Given the description of an element on the screen output the (x, y) to click on. 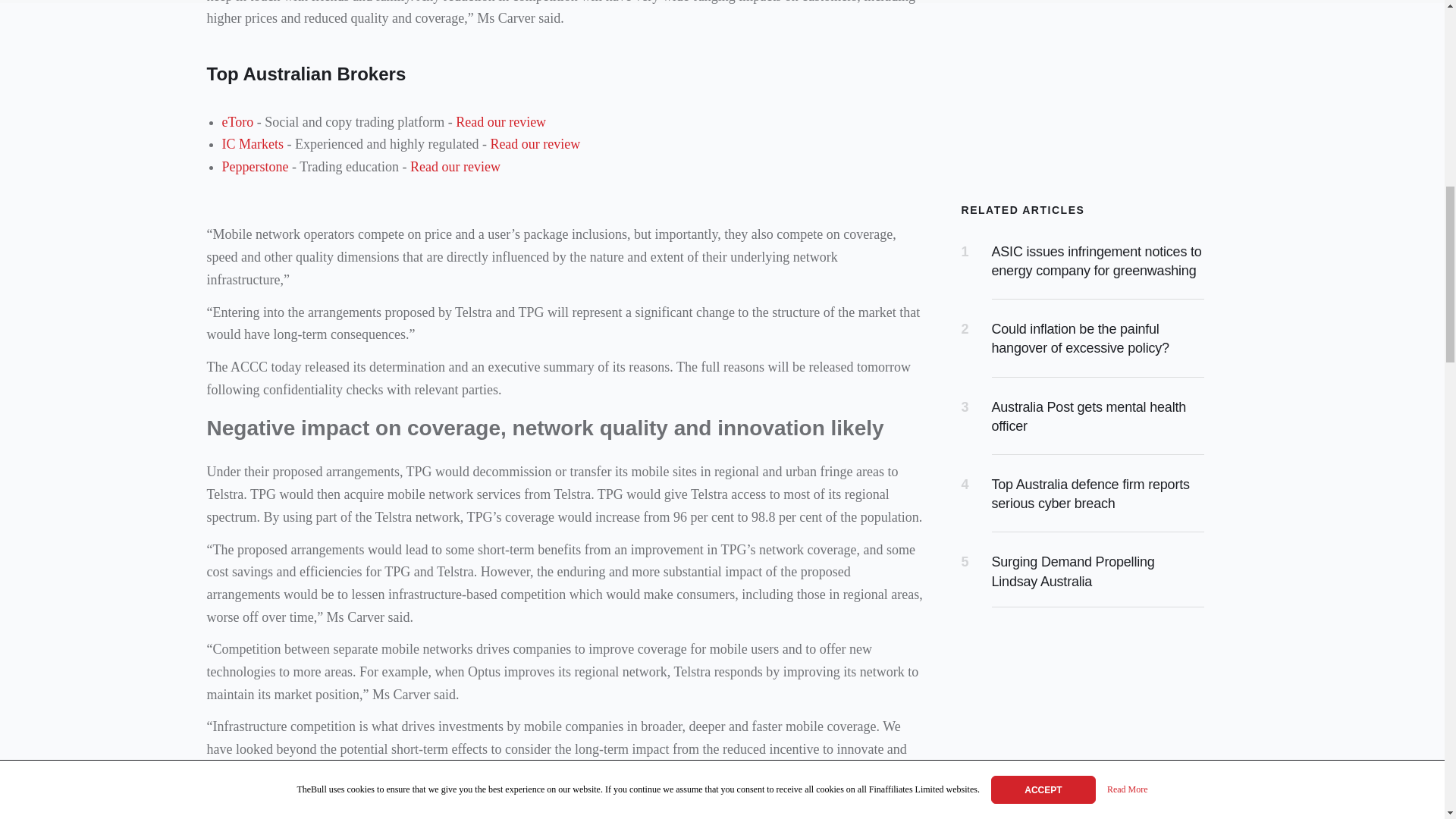
eToro (237, 121)
Surging Demand Propelling Lindsay Australia (1072, 571)
Pepperstone (254, 166)
Could inflation be the painful hangover of excessive policy? (1080, 338)
Top Australia defence firm reports serious cyber breach (1090, 493)
Read our review (455, 166)
Australia Post gets mental health officer (1088, 416)
Read our review (534, 143)
Could inflation be the painful hangover of excessive policy? (1080, 338)
